Given the description of an element on the screen output the (x, y) to click on. 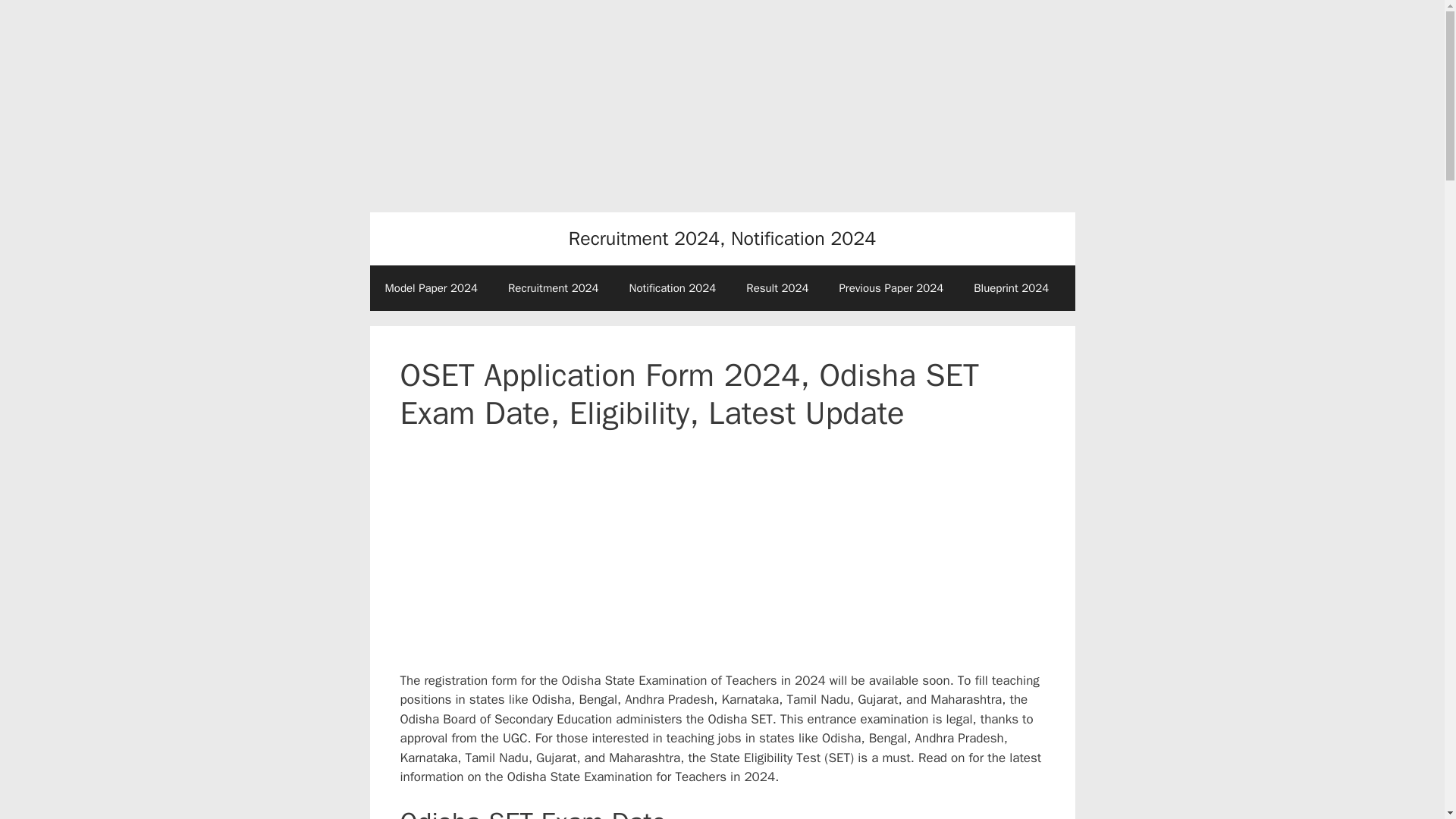
Recruitment 2024 (553, 288)
Notification 2024 (673, 288)
Previous Paper 2024 (891, 288)
Model Paper 2024 (431, 288)
Result 2024 (777, 288)
Recruitment 2024, Notification 2024 (722, 238)
Blueprint 2024 (1011, 288)
